Given the description of an element on the screen output the (x, y) to click on. 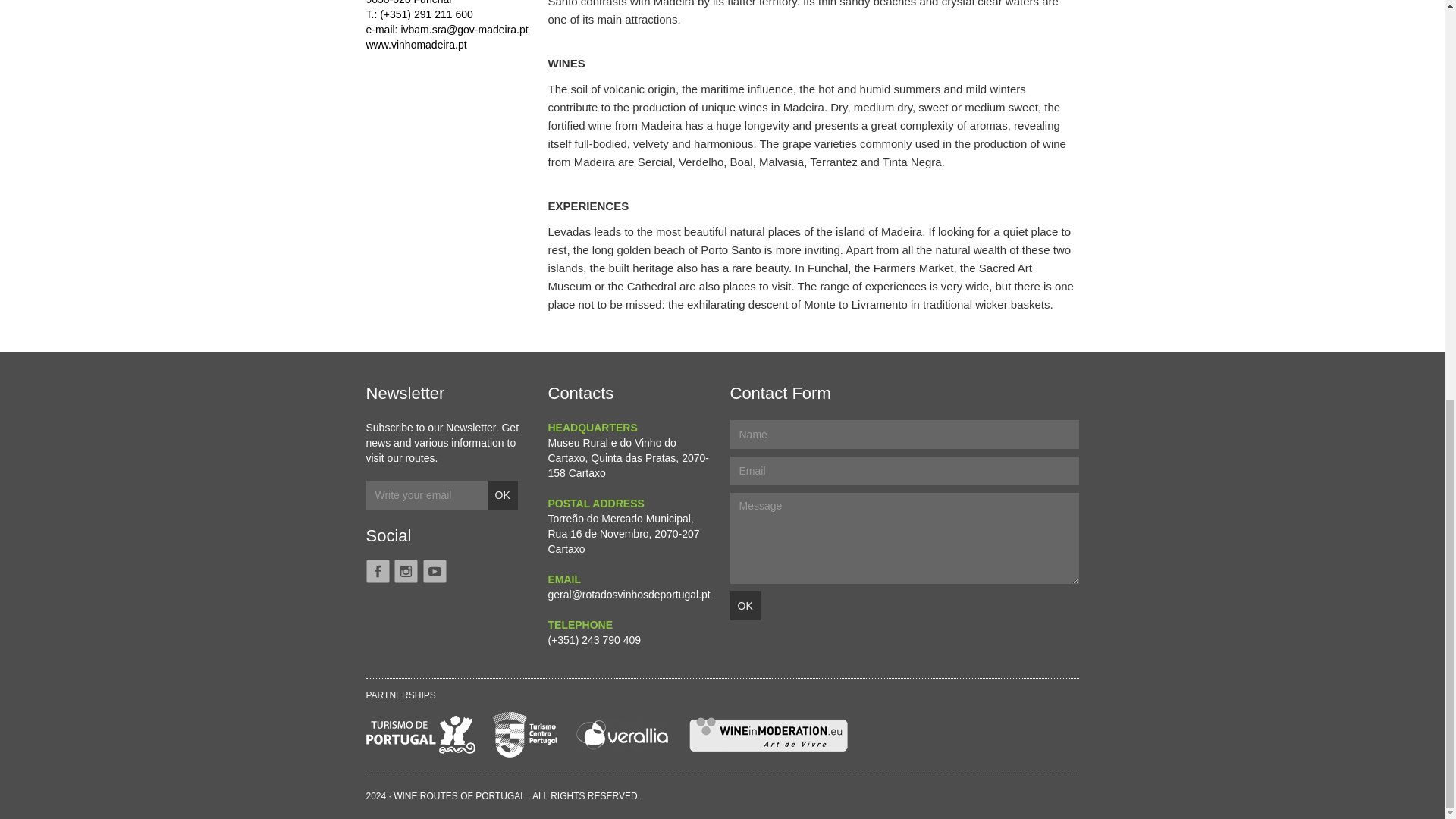
This field is required. (903, 470)
This field is required. (903, 538)
OK (501, 494)
OK (744, 605)
This field is required. (903, 434)
